Given the description of an element on the screen output the (x, y) to click on. 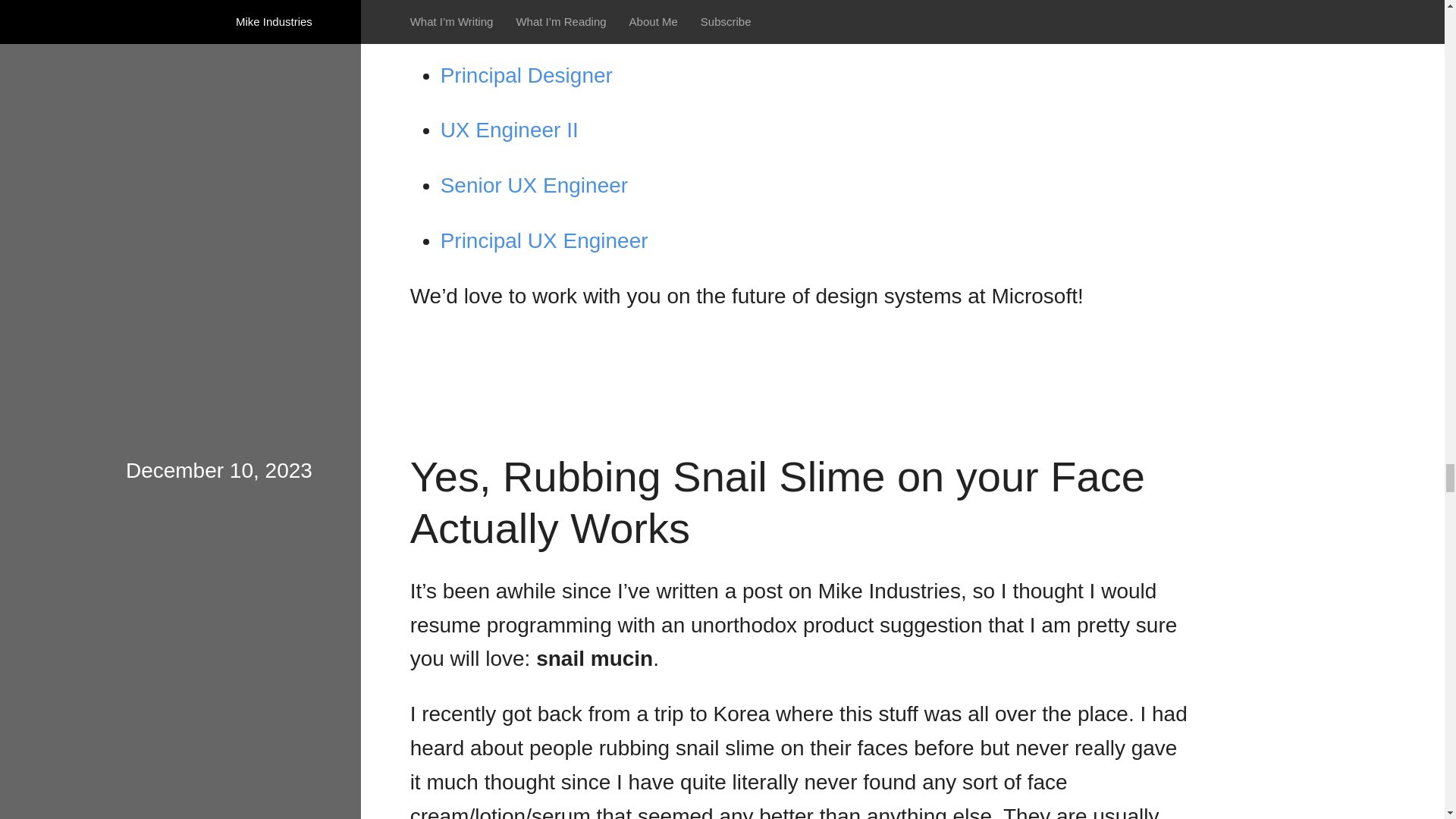
Senior Designer (516, 19)
Principal UX Engineer (544, 240)
Senior UX Engineer (534, 185)
UX Engineer II (509, 129)
Principal Designer (526, 74)
Yes, Rubbing Snail Slime on your Face Actually Works (777, 501)
